Given the description of an element on the screen output the (x, y) to click on. 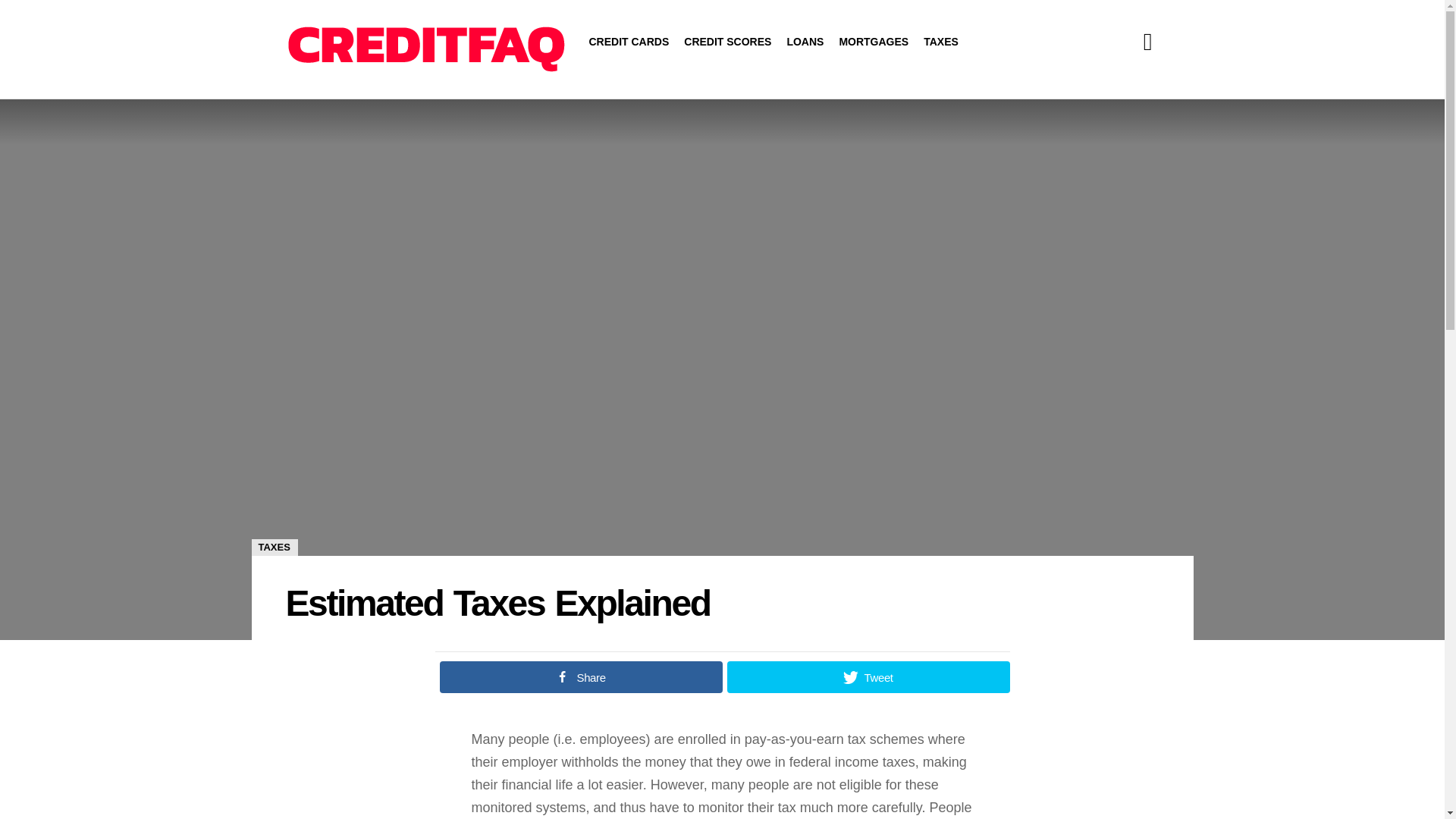
MORTGAGES (873, 41)
TAXES (274, 547)
TAXES (940, 41)
CREDIT SCORES (727, 41)
CREDIT CARDS (628, 41)
Tweet (867, 676)
LOANS (804, 41)
Share (580, 676)
